Given the description of an element on the screen output the (x, y) to click on. 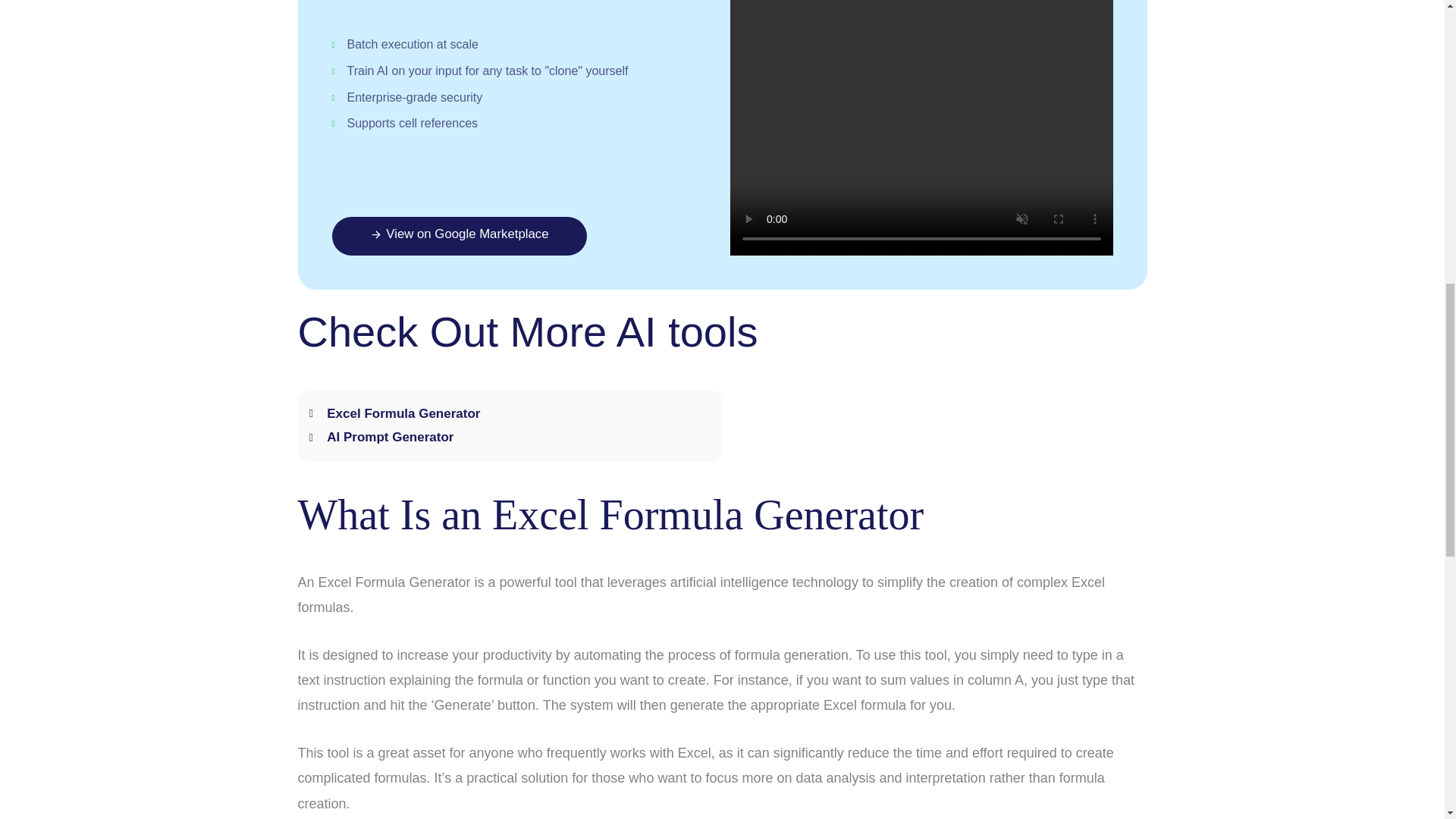
AI Prompt Generator (509, 437)
Excel Formula Generator (509, 413)
View on Google Marketplace (458, 236)
